Given the description of an element on the screen output the (x, y) to click on. 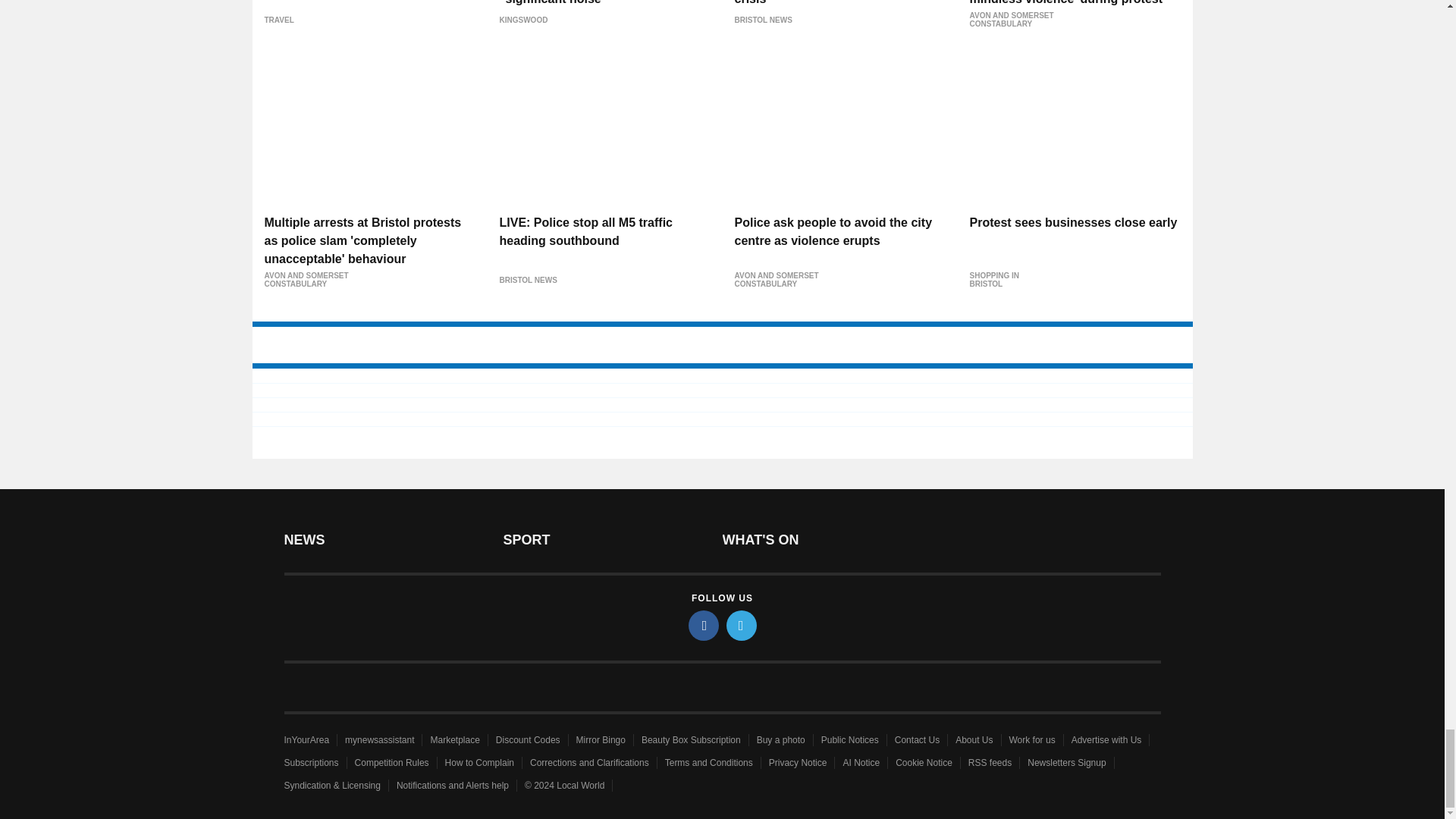
facebook (703, 625)
twitter (741, 625)
